Given the description of an element on the screen output the (x, y) to click on. 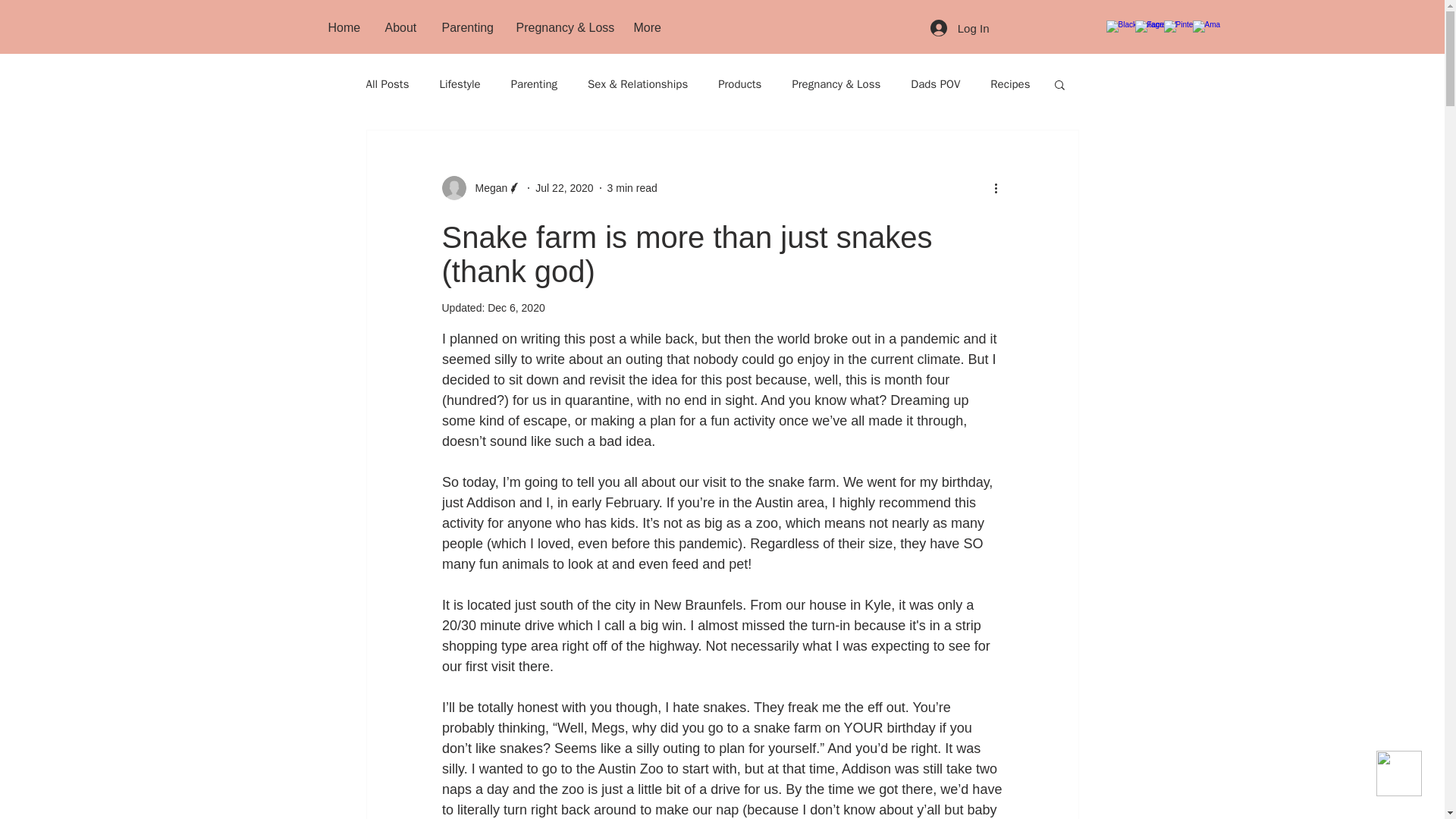
Home (345, 27)
Parenting (467, 27)
About (400, 27)
Products (739, 83)
3 min read (632, 187)
Megan (481, 187)
Dec 6, 2020 (515, 307)
Lifestyle (459, 83)
Jul 22, 2020 (563, 187)
All Posts (387, 83)
